Given the description of an element on the screen output the (x, y) to click on. 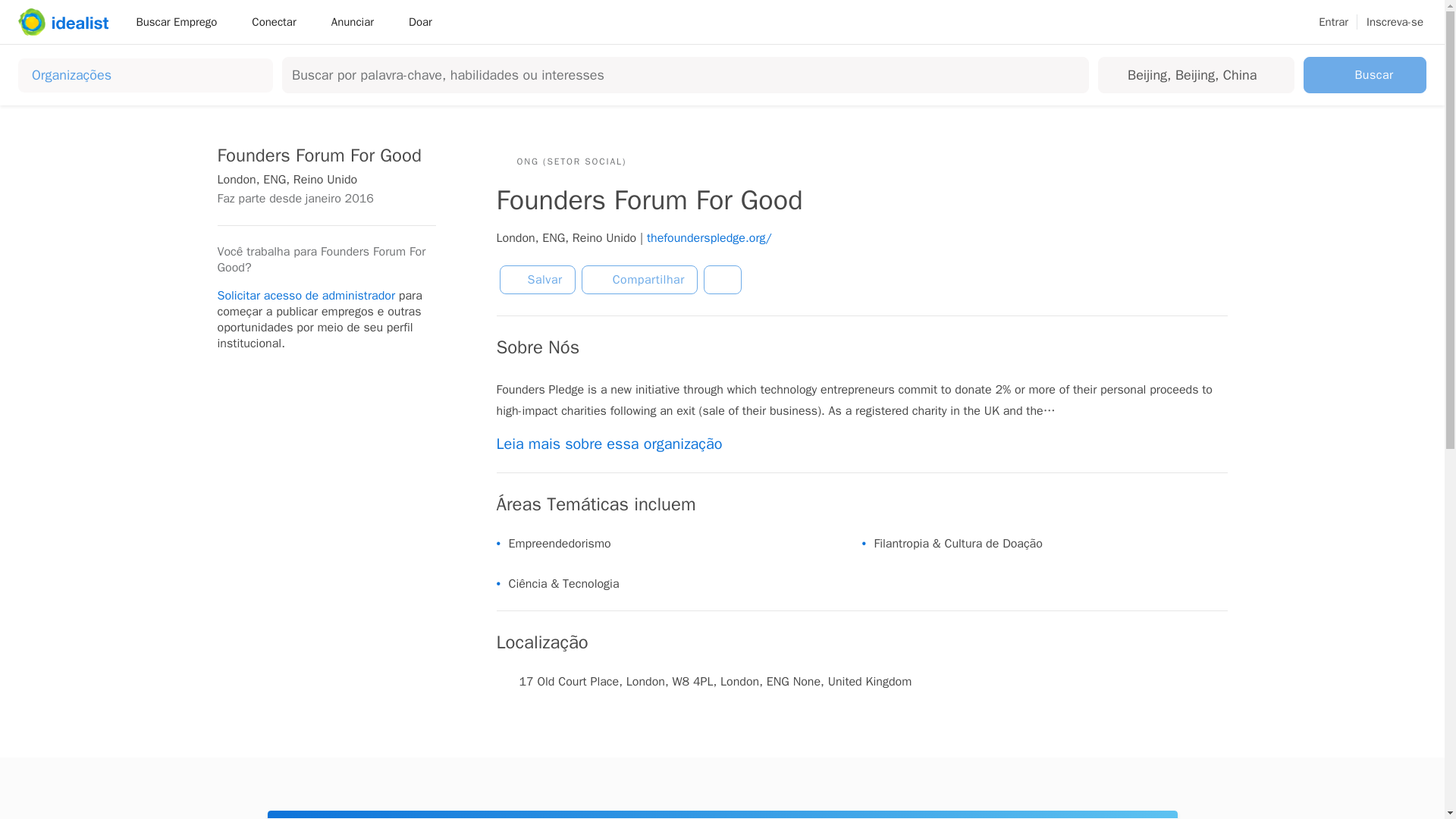
Compartilhar (638, 279)
Beijing, Beijing, China (1193, 74)
Solicitar acesso de administrador (305, 295)
Buscar Emprego (180, 21)
Doar (419, 21)
Entrar (1333, 22)
Anunciar (357, 21)
Salvar (537, 279)
Inscreva-se (1394, 22)
Buscar (1364, 74)
Conectar (279, 21)
Salvar (537, 279)
